Given the description of an element on the screen output the (x, y) to click on. 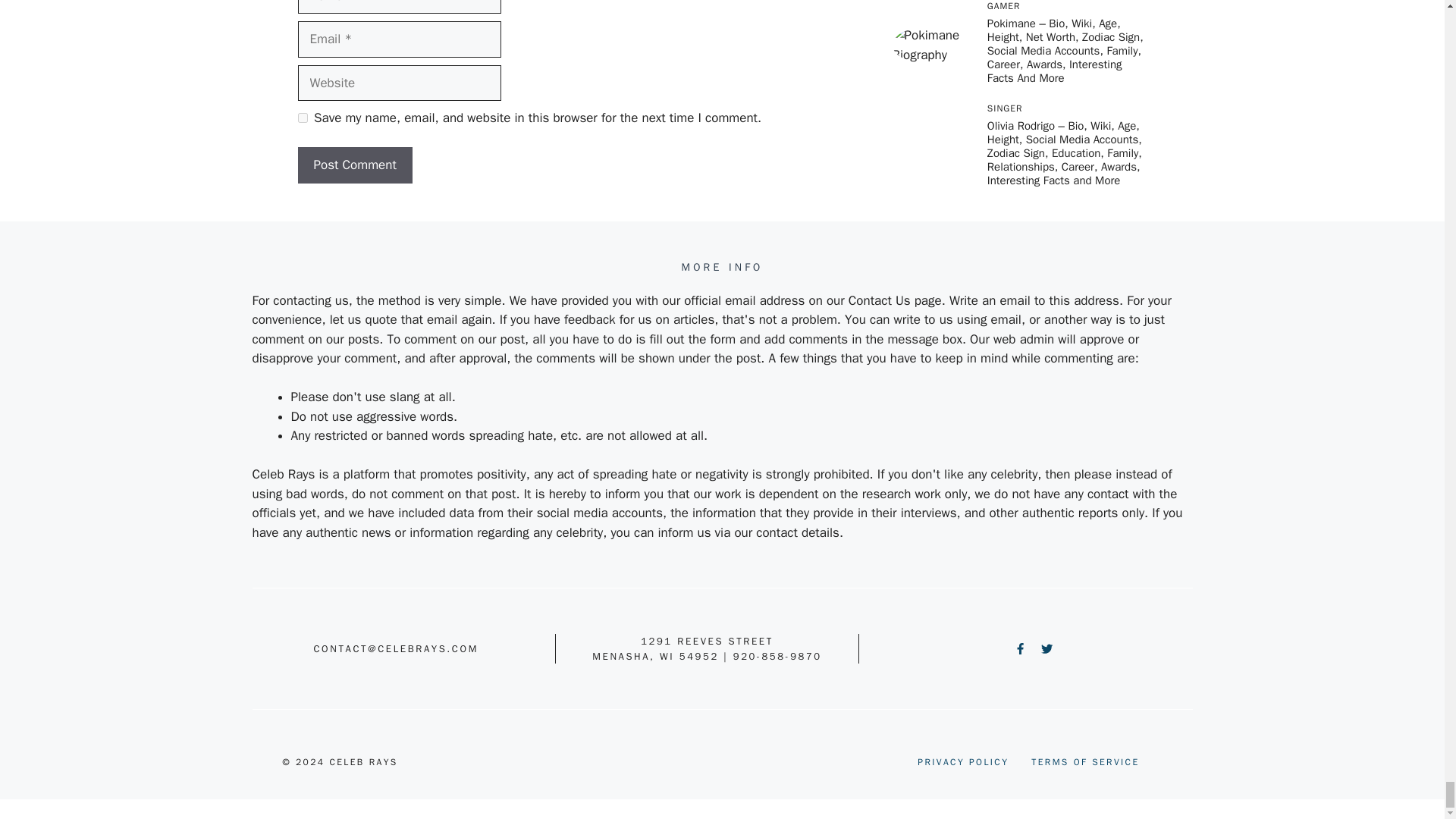
yes (302, 117)
Post Comment (354, 165)
Post Comment (354, 165)
